Given the description of an element on the screen output the (x, y) to click on. 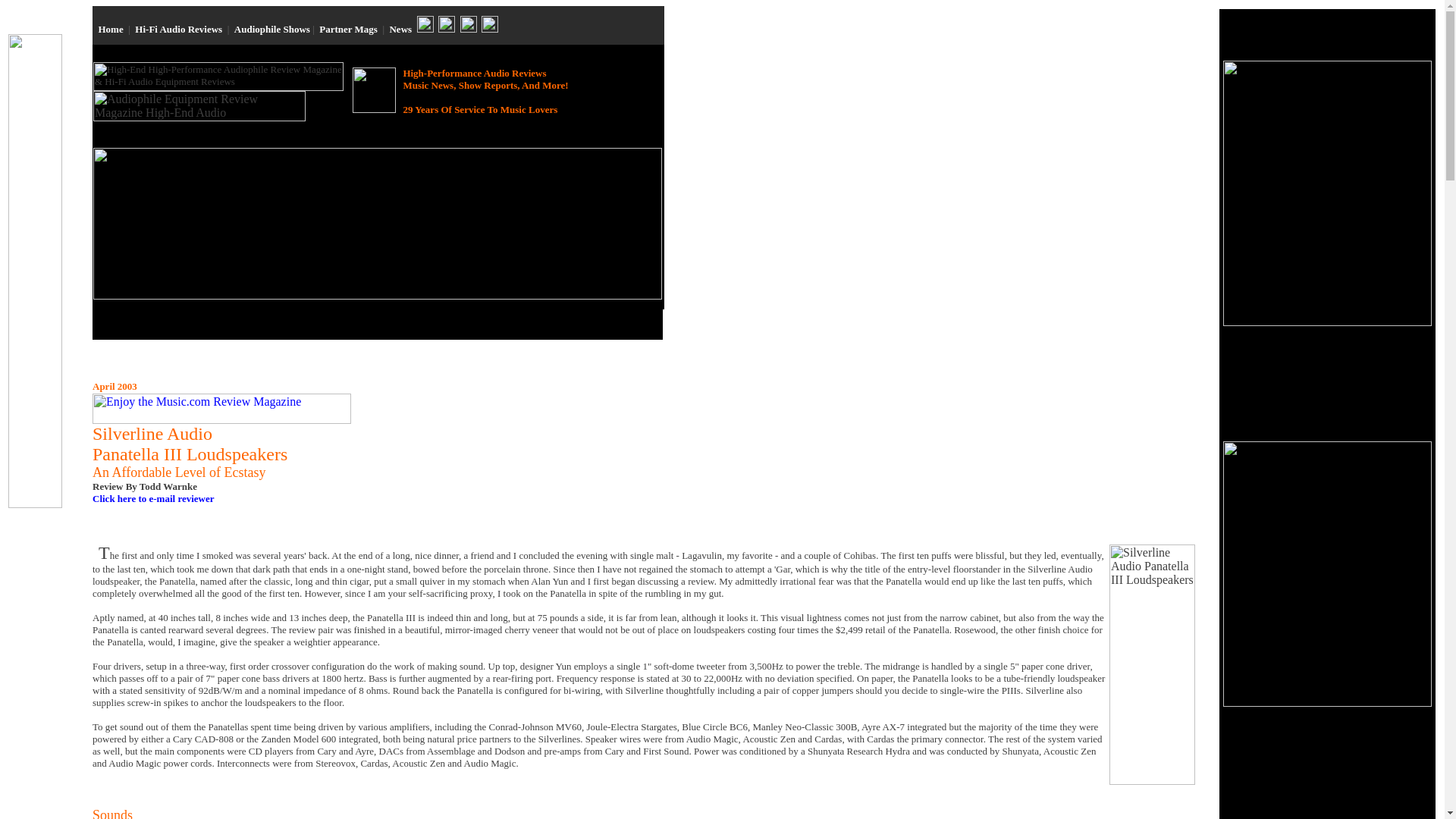
Click here to e-mail reviewer (153, 498)
Hi-Fi Audio Reviews (178, 29)
Home (111, 29)
Partner Mags (347, 29)
Audiophile Shows (272, 29)
News (400, 29)
